Given the description of an element on the screen output the (x, y) to click on. 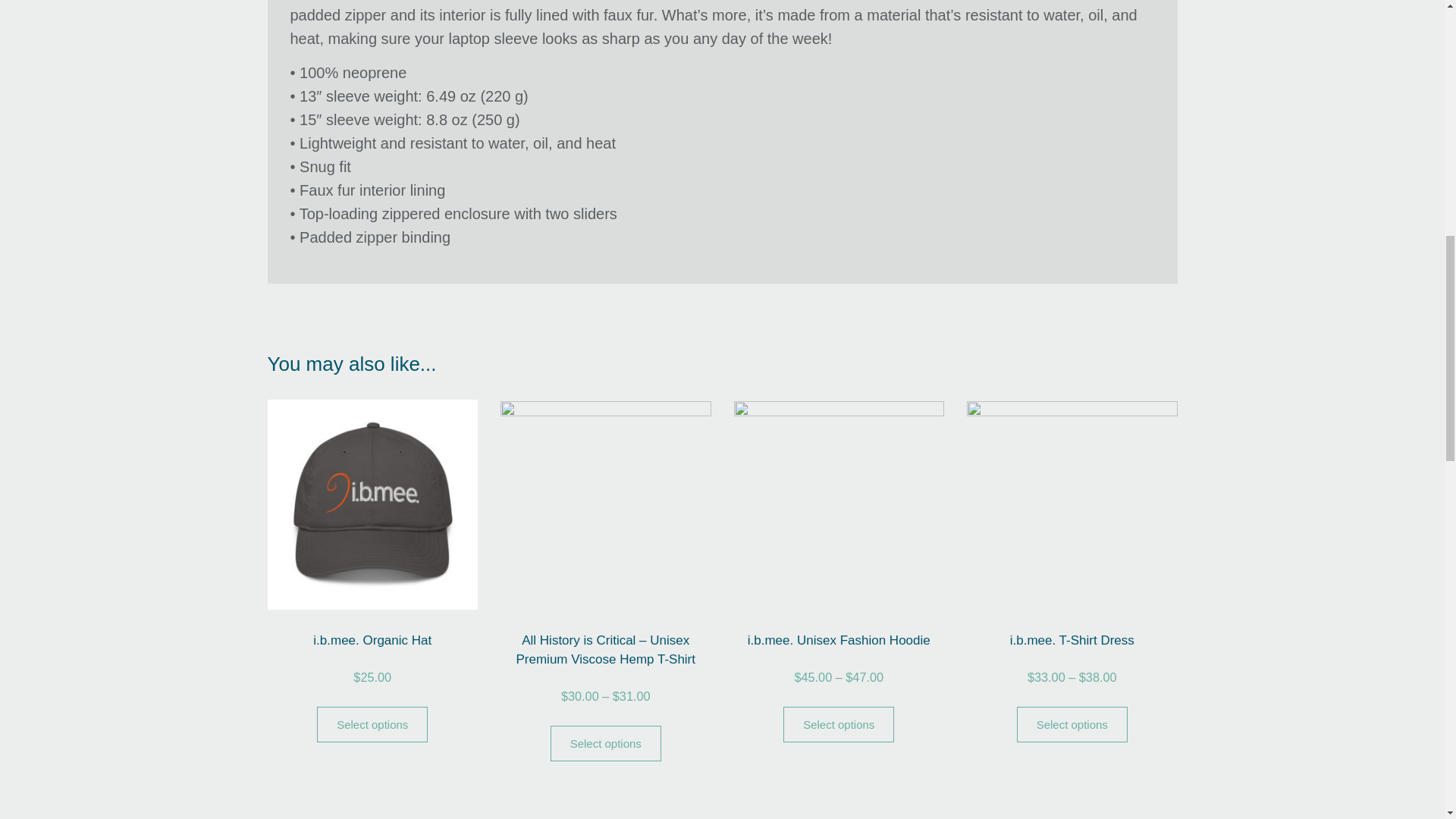
Select options (605, 743)
Select options (1071, 724)
Select options (838, 724)
Select options (372, 724)
